Given the description of an element on the screen output the (x, y) to click on. 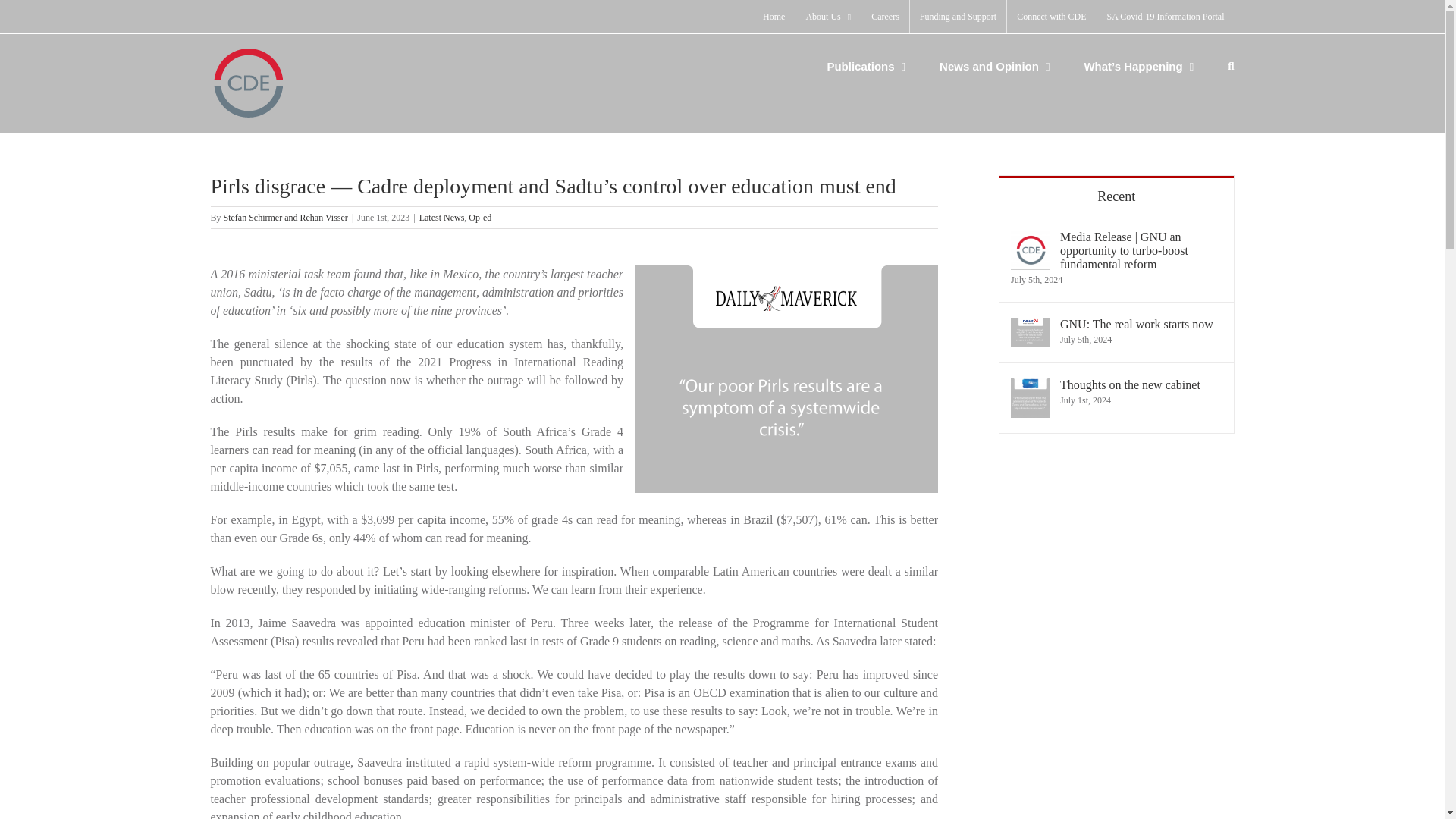
Publications (866, 65)
Careers (884, 16)
Posts by Stefan Schirmer and Rehan Visser (285, 217)
Home (773, 16)
Connect with CDE (1051, 16)
About Us (827, 16)
Funding and Support (958, 16)
SA Covid-19 Information Portal (1164, 16)
